Given the description of an element on the screen output the (x, y) to click on. 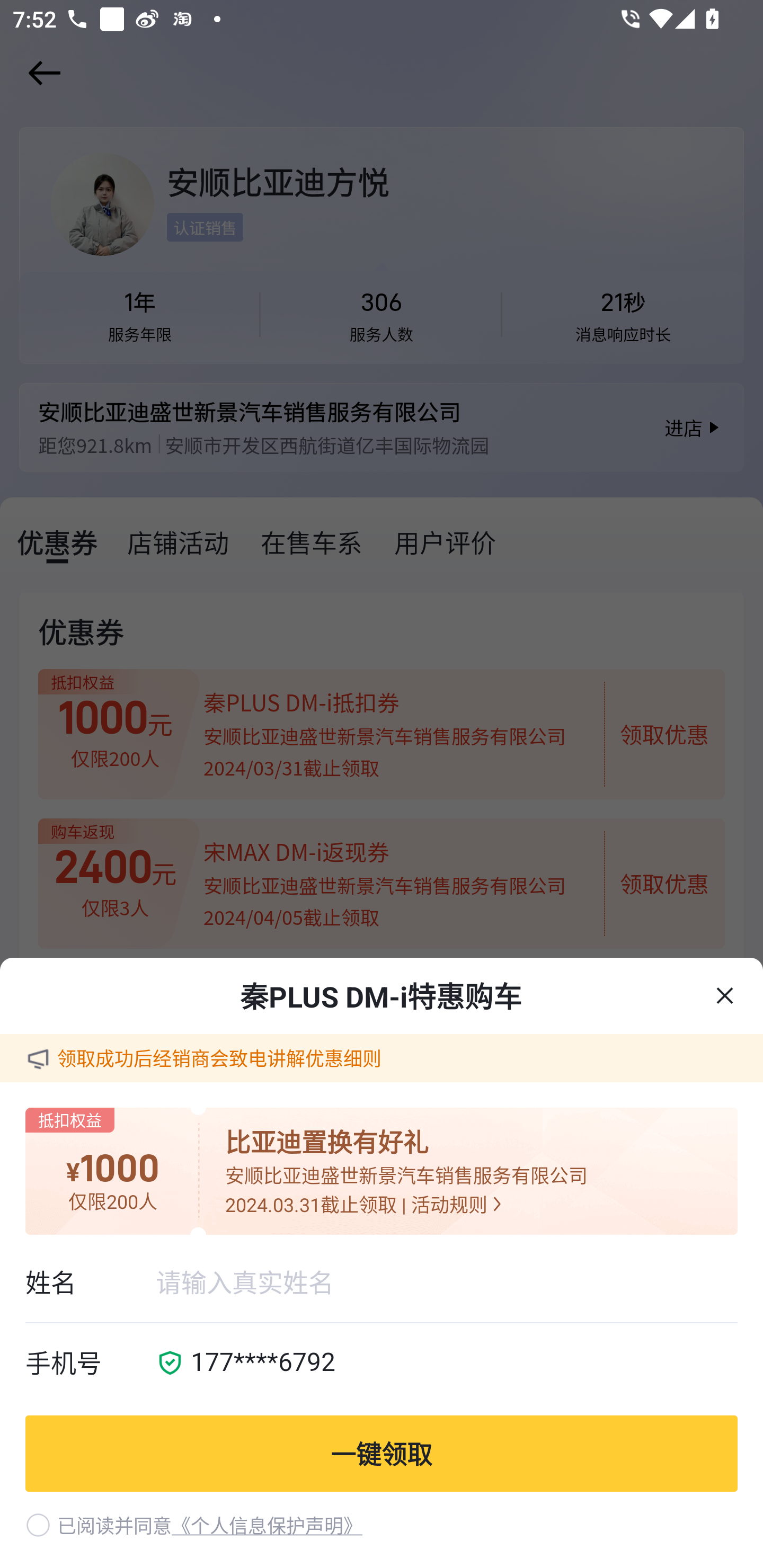
 (724, 995)
 |  活动规则  (451, 1203)
姓名 (90, 1282)
请输入真实姓名 (446, 1282)
手机号 (90, 1363)
177****6792 (457, 1363)
一键领取 (381, 1453)
